Given the description of an element on the screen output the (x, y) to click on. 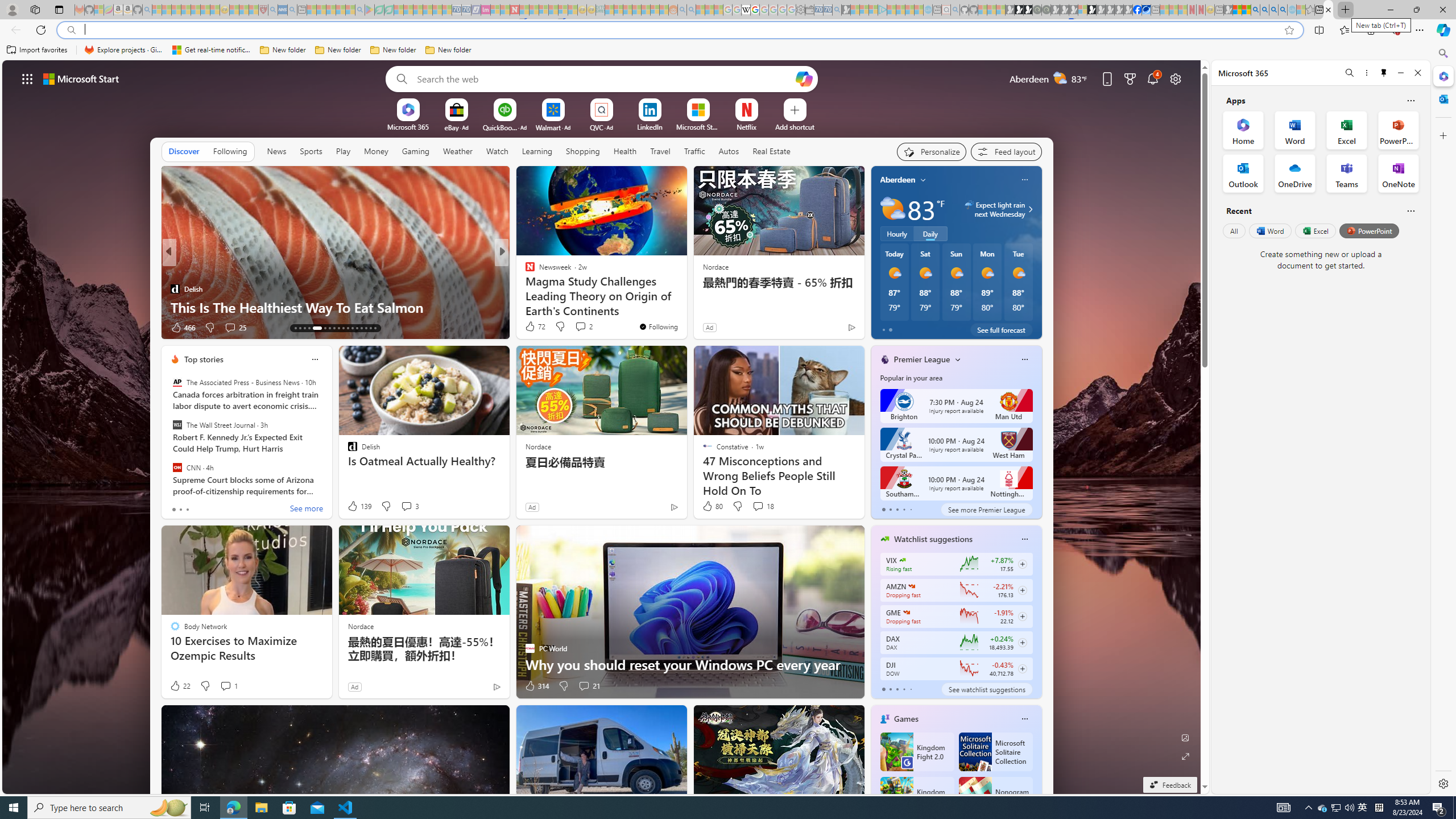
Favorites - Sleeping (1309, 9)
Microsoft Start Gaming - Sleeping (846, 9)
AutomationID: tab-15 (304, 328)
Start the conversation (576, 327)
Excel (1315, 230)
Play (342, 151)
View comments 29 Comment (585, 327)
